Given the description of an element on the screen output the (x, y) to click on. 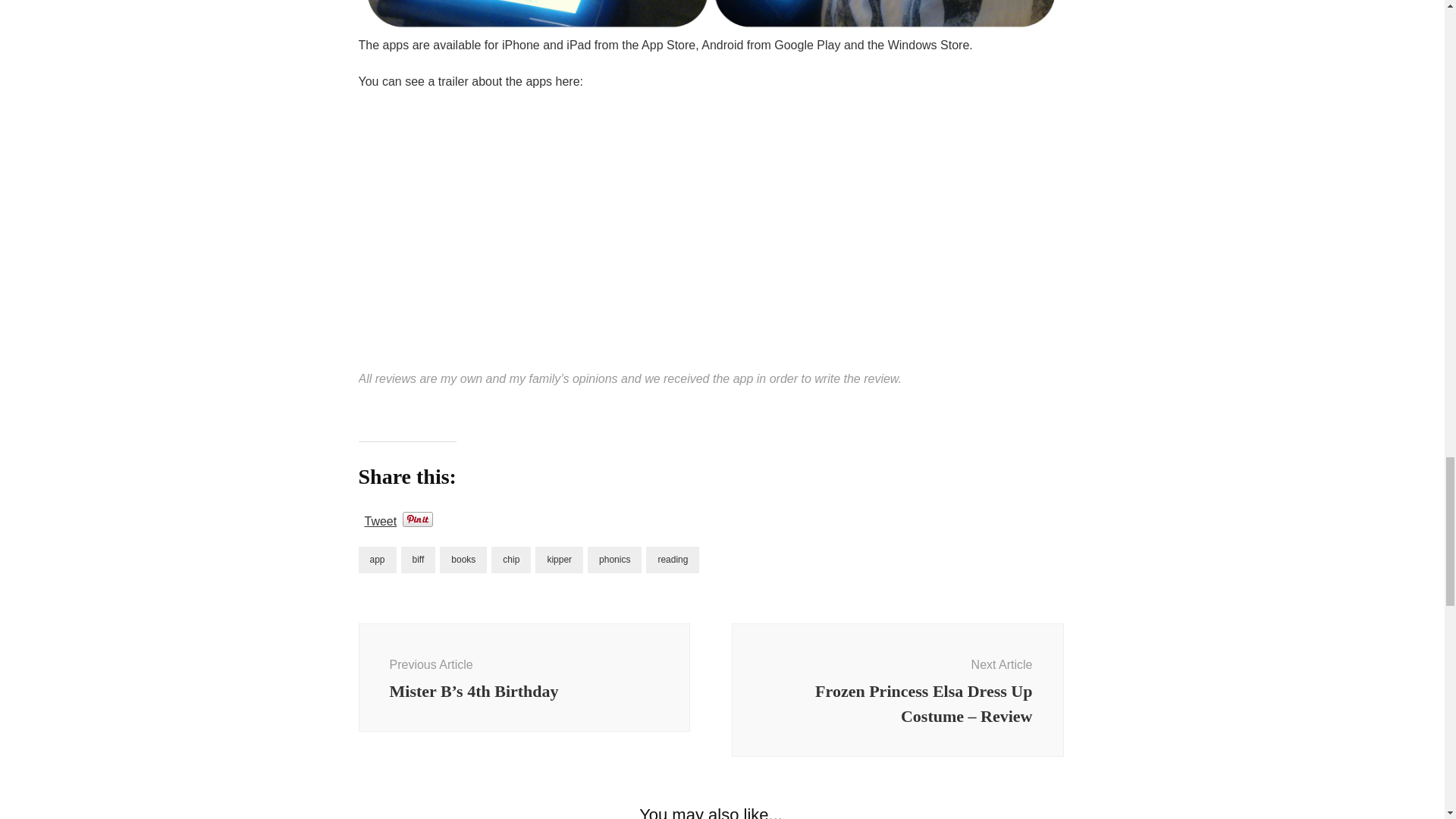
app (377, 560)
kipper (559, 560)
books (462, 560)
biff (418, 560)
phonics (615, 560)
reading (672, 560)
Tweet (380, 518)
chip (511, 560)
